Given the description of an element on the screen output the (x, y) to click on. 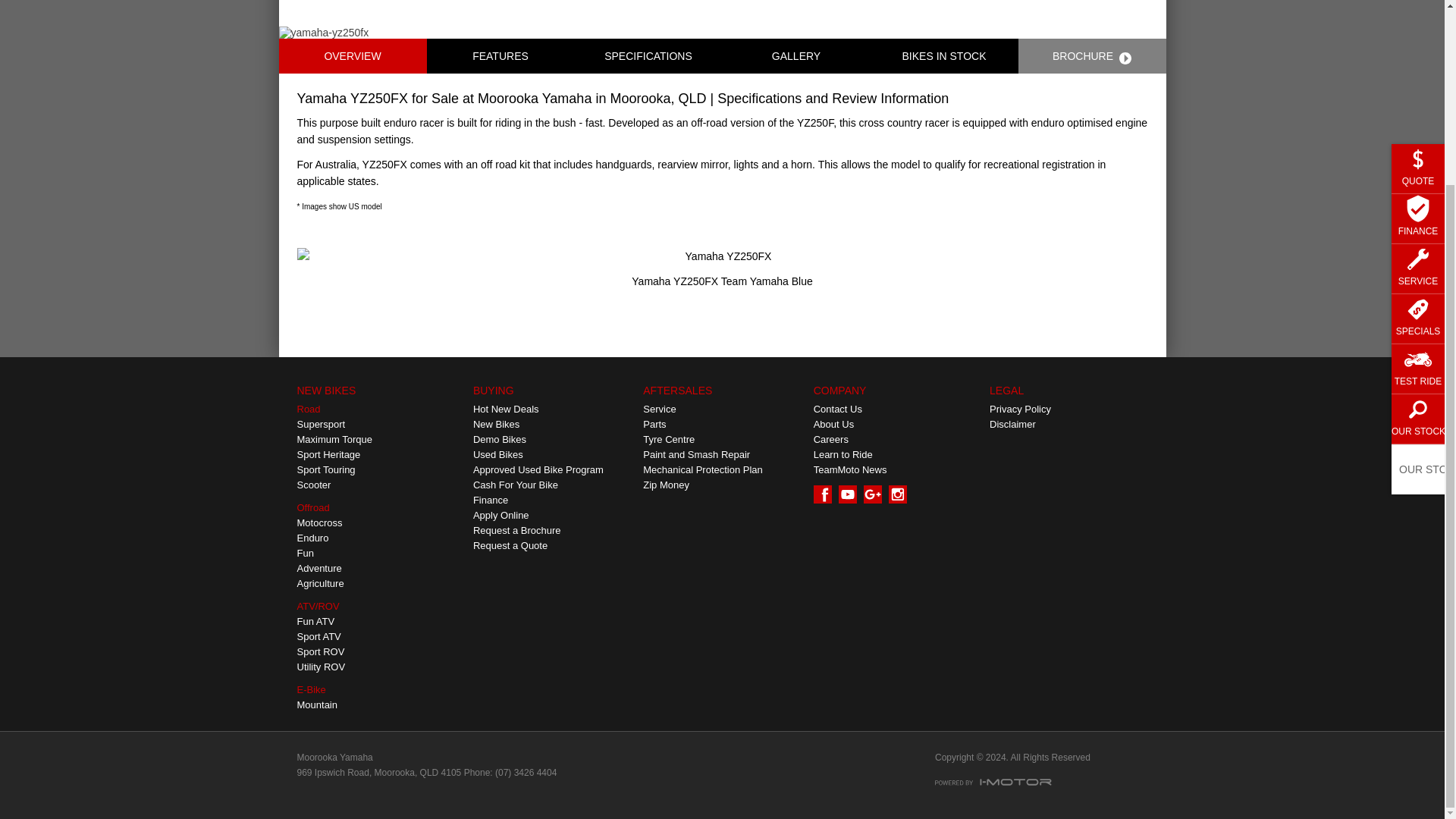
Apply Online - Moorooka Yamaha (551, 515)
Used Bikes, Used Yamaha Bikes - Moorooka Yamaha (551, 454)
Demo Bikes, Demo Yamaha Bikes - Moorooka Yamaha (551, 439)
New Bikes, New Yamaha Bikes - Moorooka Yamaha (551, 424)
Cash For Your Bike - Moorooka Yamaha (551, 485)
Yamaha Special - Moorooka Yamaha (551, 409)
Request a Brochure (551, 530)
Request a Quote (551, 545)
